Given the description of an element on the screen output the (x, y) to click on. 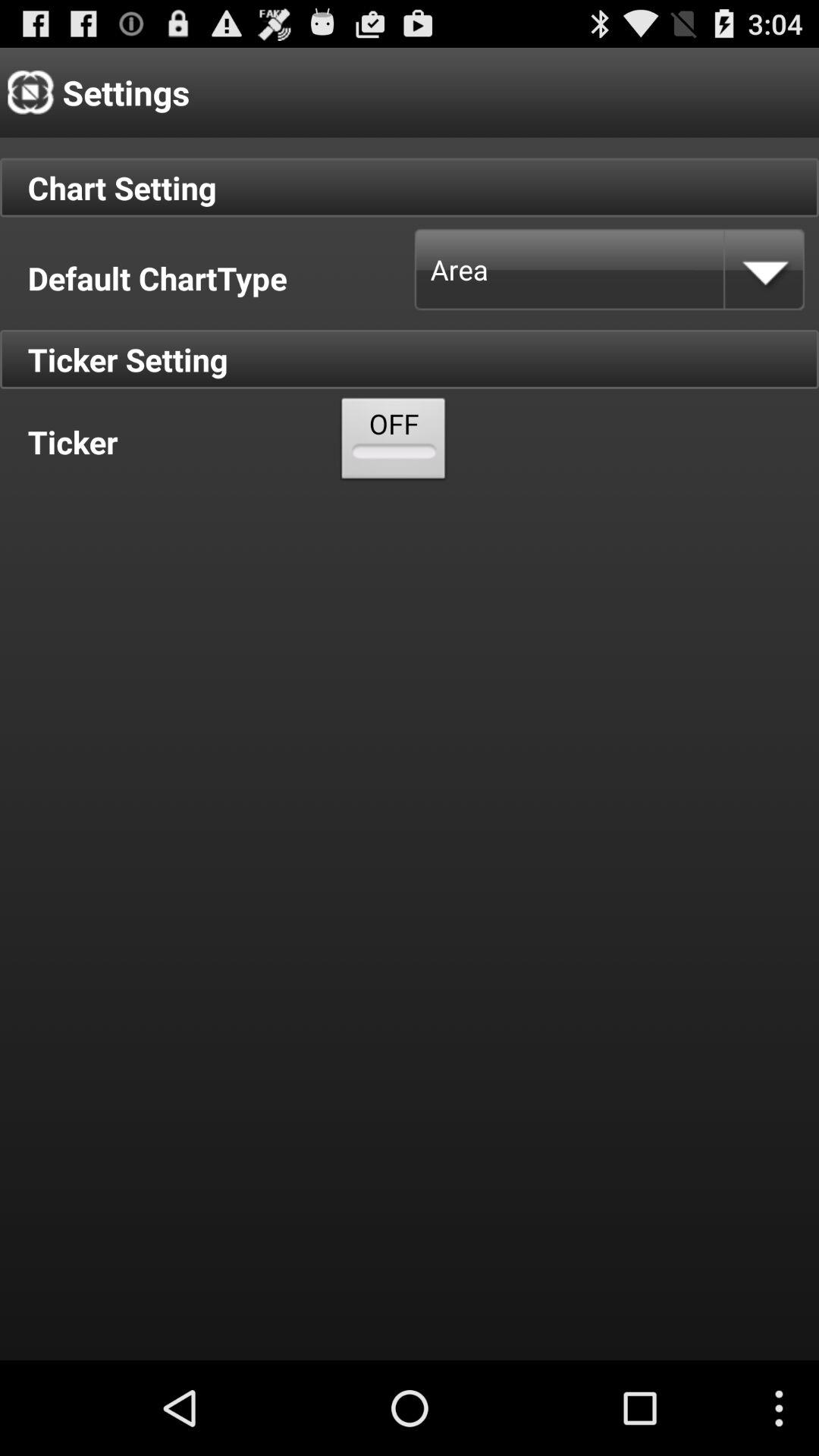
turn off app to the right of the ticker (393, 441)
